Given the description of an element on the screen output the (x, y) to click on. 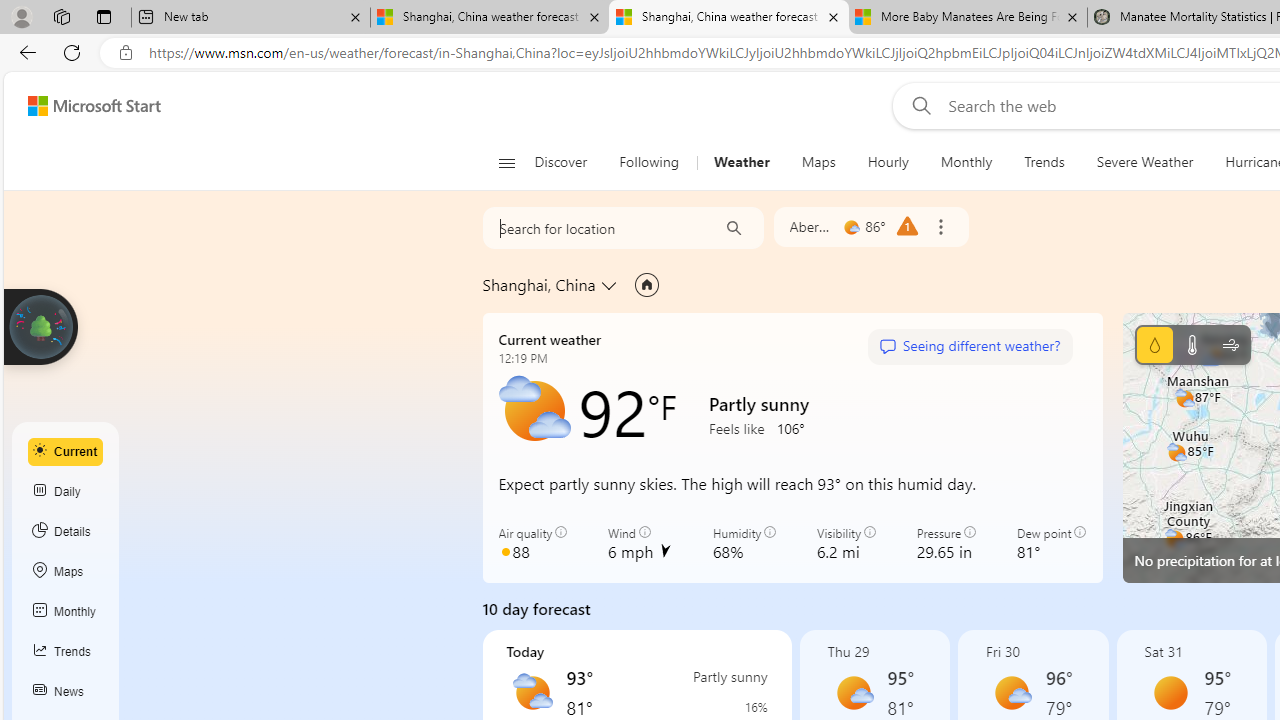
Maps (818, 162)
Severe Weather (1144, 162)
Precipitation (735, 707)
Temperature (1191, 344)
Following (648, 162)
Discover (560, 162)
Pressure 29.65 in (946, 543)
Monthly (65, 611)
Monthly (966, 162)
Close tab (1072, 16)
Refresh (72, 52)
Microsoft Start (94, 105)
Skip to footer (82, 105)
